Given the description of an element on the screen output the (x, y) to click on. 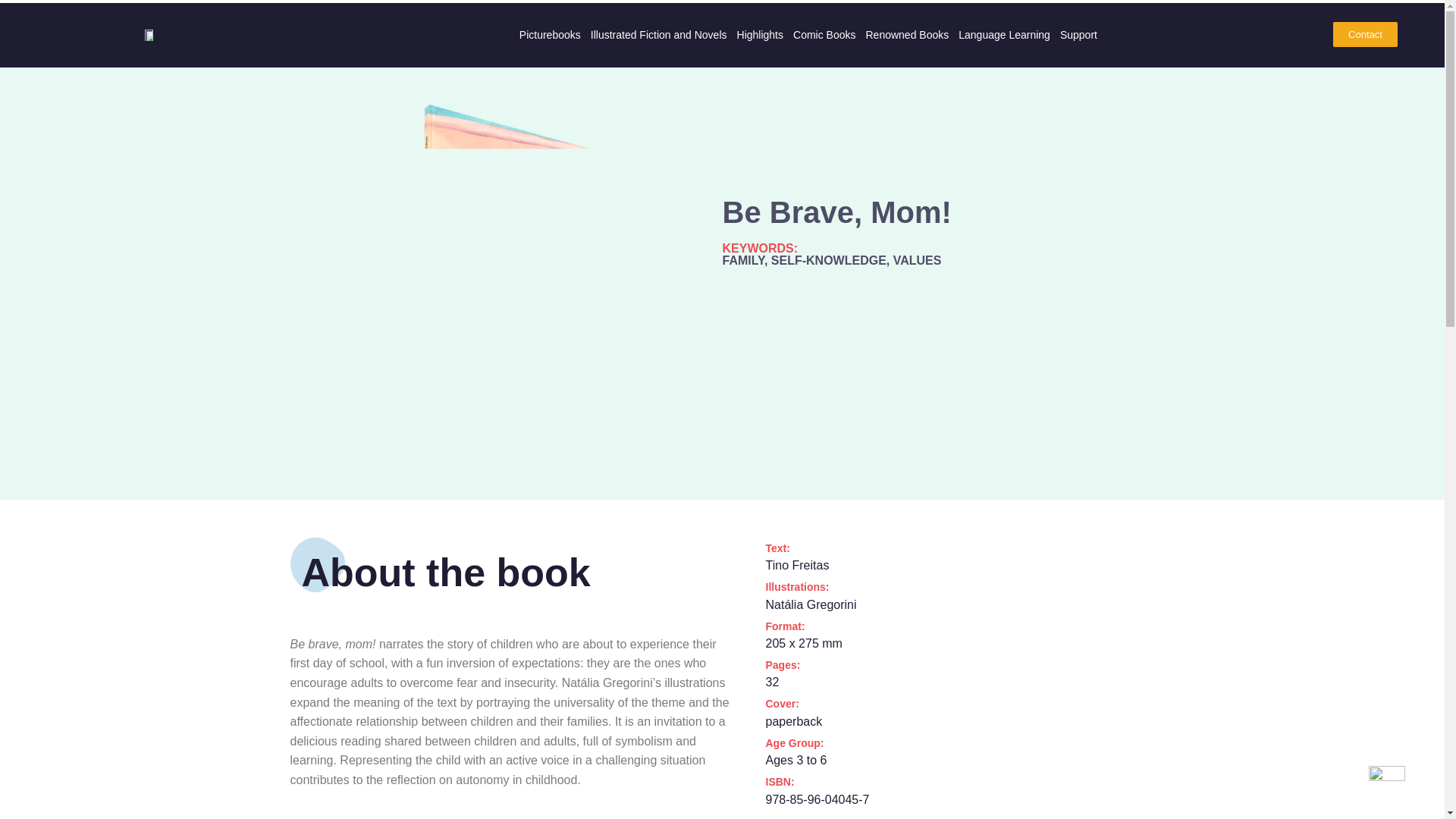
Picturebooks (549, 34)
Highlights (759, 34)
Language Learning (1003, 34)
Illustrated Fiction and Novels (658, 34)
Renowned Books (906, 34)
Comic Books (824, 34)
Contact (1365, 34)
Support (1078, 34)
